Given the description of an element on the screen output the (x, y) to click on. 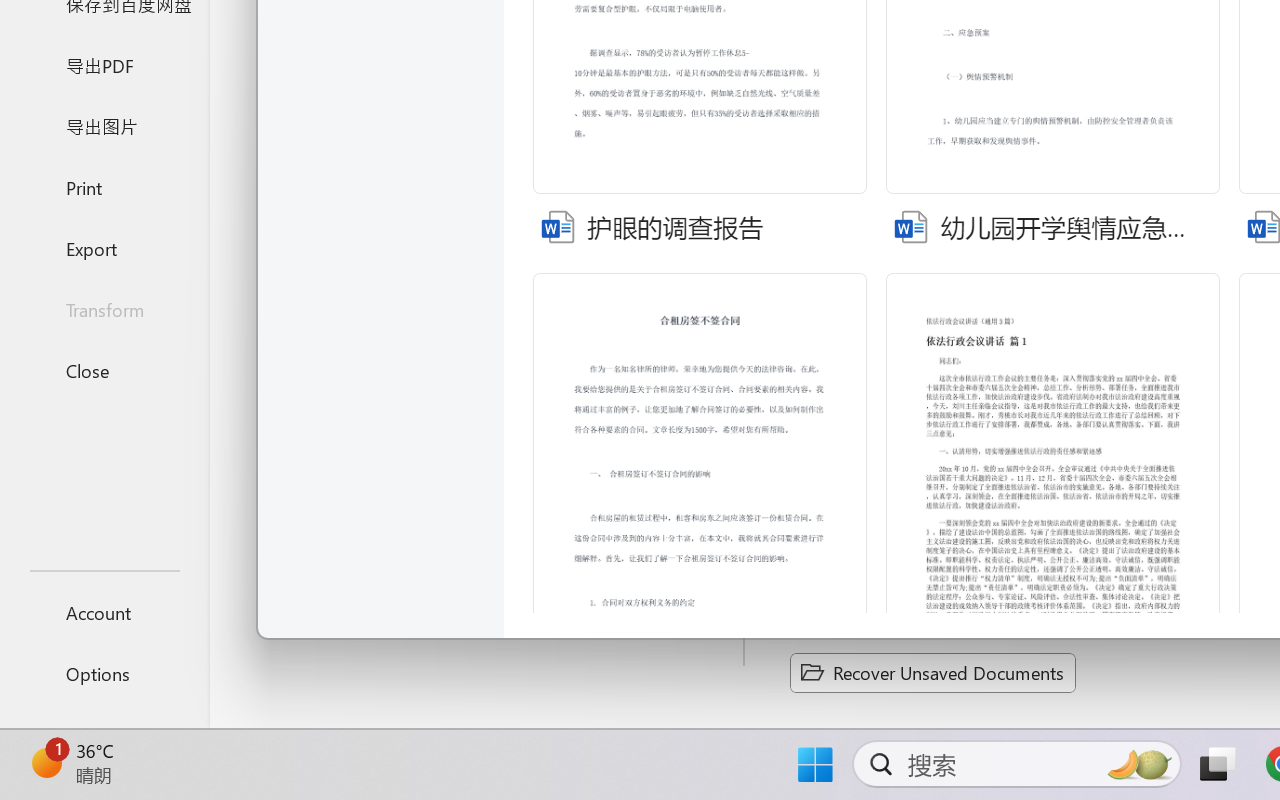
Print (104, 186)
Transform (104, 309)
Account (104, 612)
Class: ___510cvc0 f64fuq3 fjamq6b f11u7vat (910, 224)
Export (104, 248)
Options (104, 673)
